Given the description of an element on the screen output the (x, y) to click on. 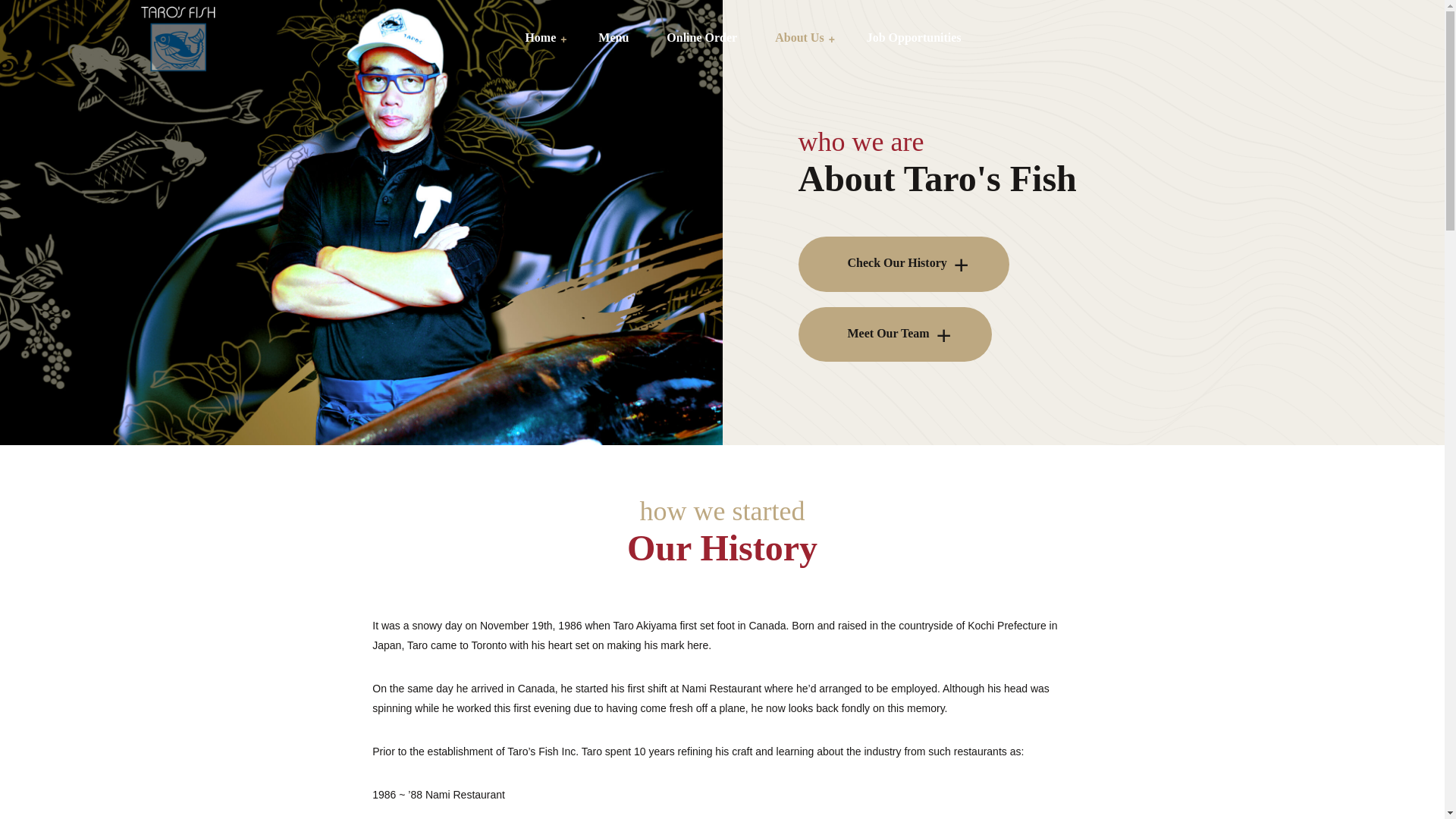
Meet Our Team (894, 334)
About Us (799, 37)
Home (540, 37)
Menu (613, 37)
Online Order (701, 37)
Check Our History (903, 263)
Job Opportunities (903, 37)
